Given the description of an element on the screen output the (x, y) to click on. 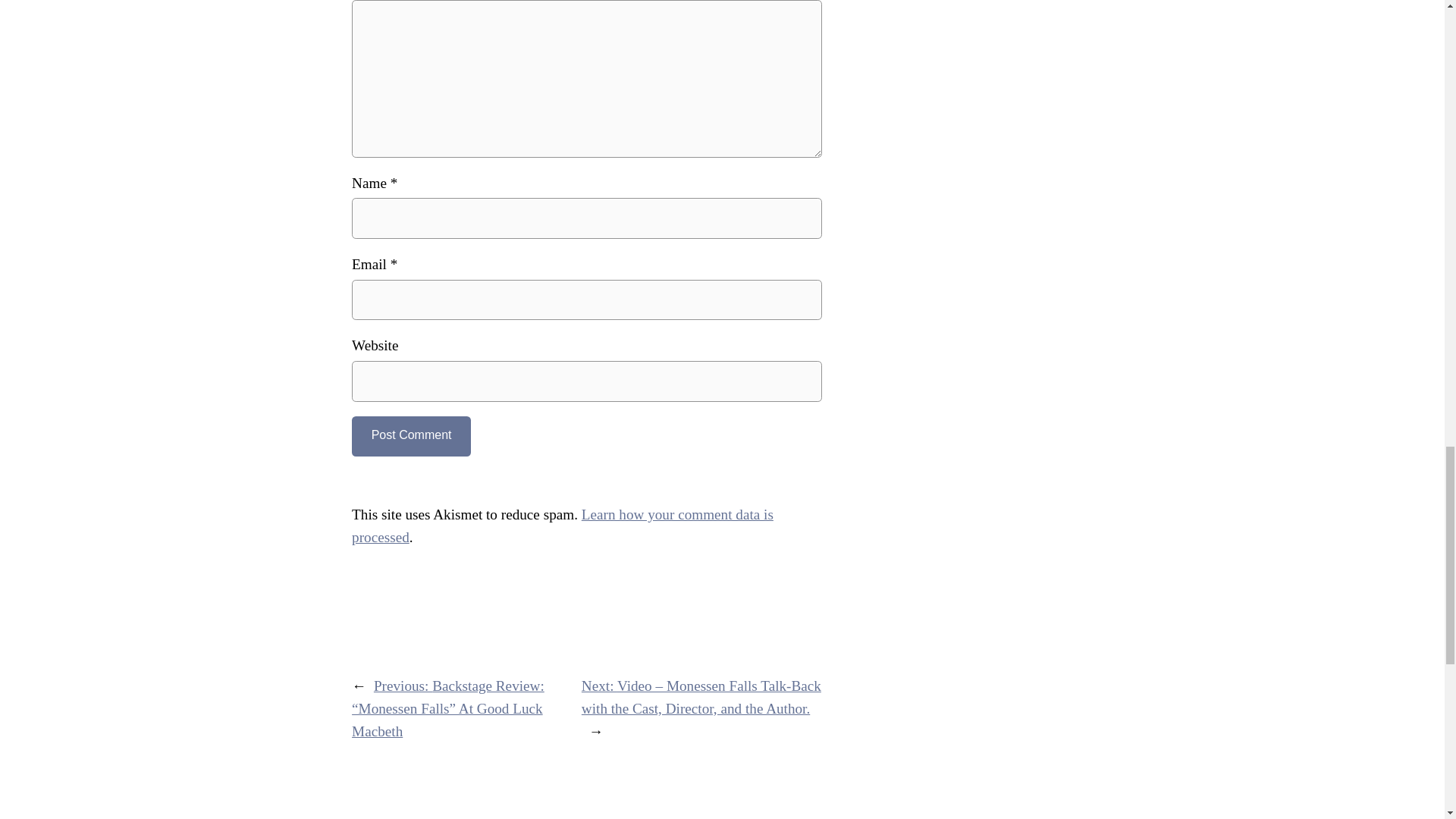
Post Comment (411, 436)
Post Comment (411, 436)
Learn how your comment data is processed (562, 525)
